Given the description of an element on the screen output the (x, y) to click on. 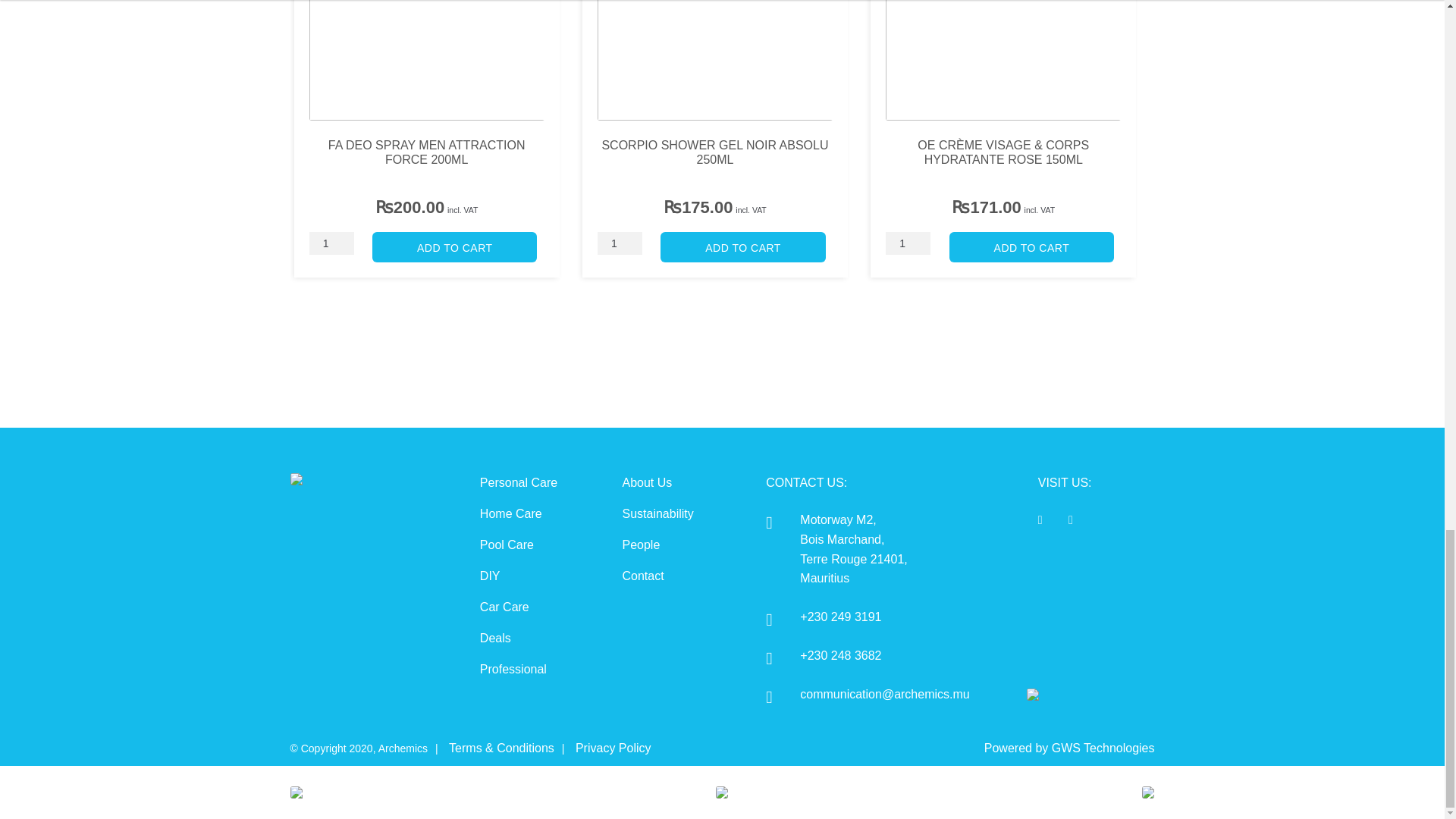
1 (619, 242)
1 (330, 242)
1 (907, 242)
